Given the description of an element on the screen output the (x, y) to click on. 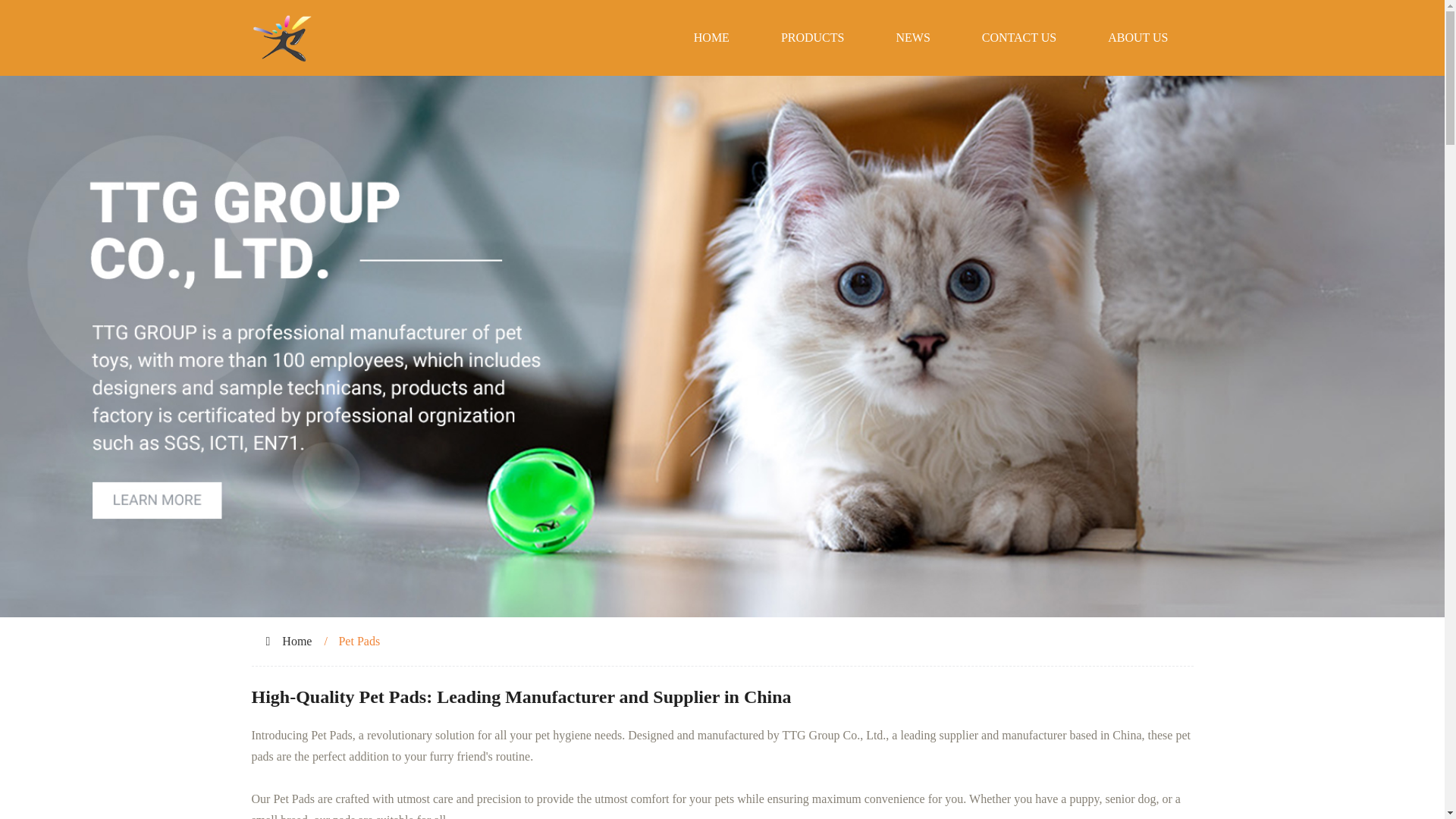
PRODUCTS (812, 38)
CONTACT US (1018, 38)
Home (296, 640)
